Given the description of an element on the screen output the (x, y) to click on. 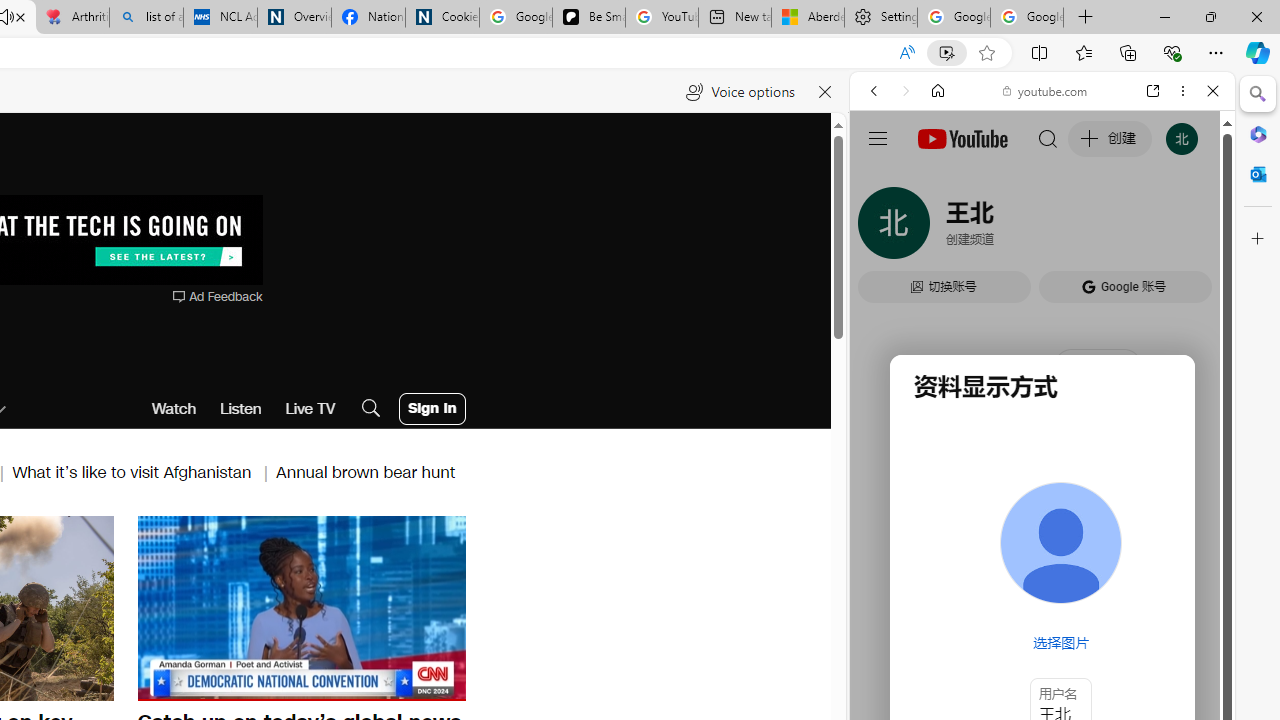
youtube.com (1046, 90)
Forward 10 seconds (361, 606)
Search videos from youtube.com (1005, 657)
